Given the description of an element on the screen output the (x, y) to click on. 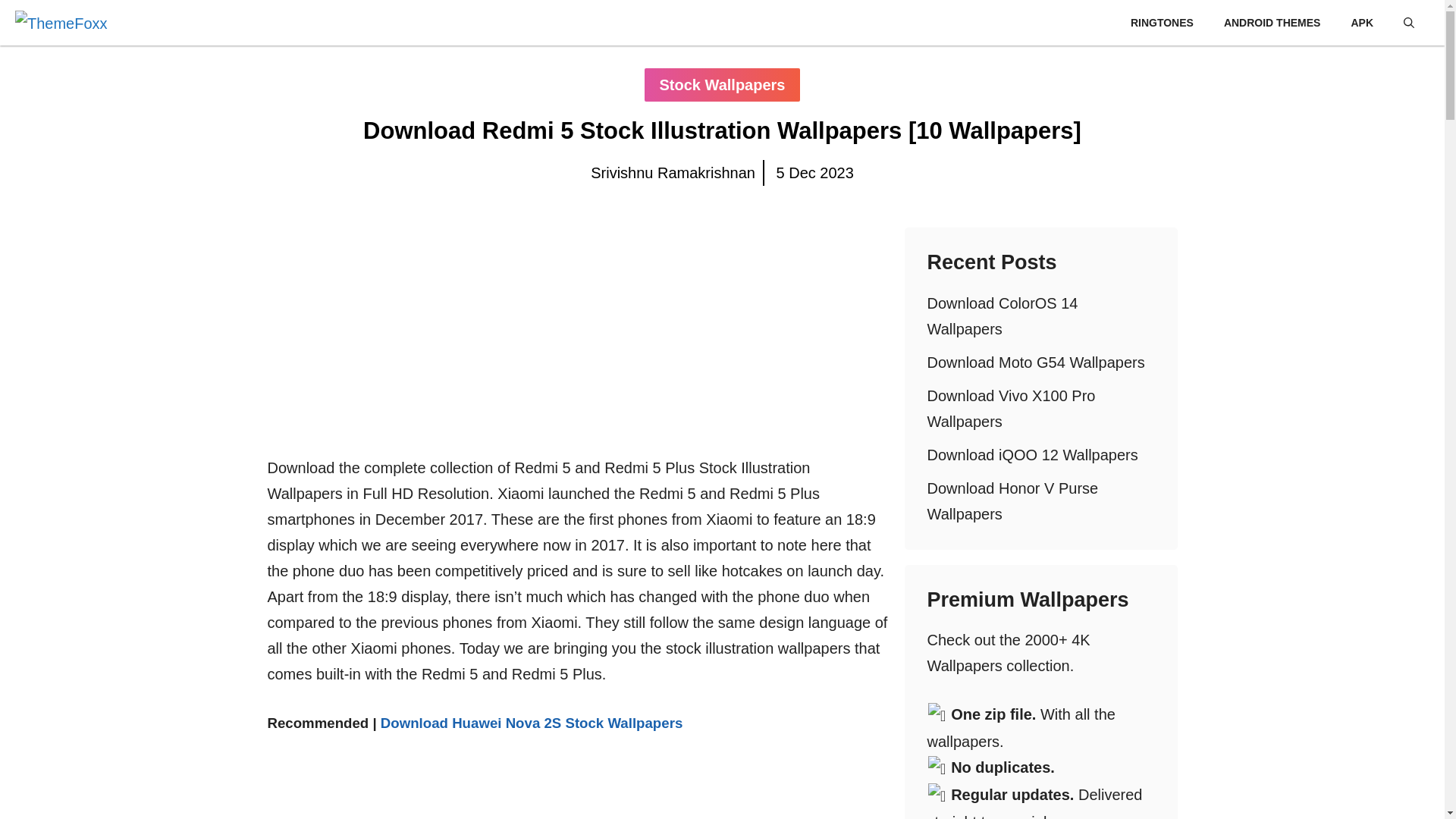
STOCK WALLPAPERS (1043, 22)
RINGTONES (1161, 22)
Download ColorOS 14 Wallpapers (1001, 315)
Download iQOO 12 Wallpapers (1031, 454)
Download Huawei Nova 2S Stock Wallpapers (531, 722)
Stock Wallpapers (722, 84)
Download Vivo X100 Pro Wallpapers (1010, 408)
Download Moto G54 Wallpapers (1035, 362)
ANDROID THEMES (1272, 22)
Download Honor V Purse Wallpapers (1011, 500)
Srivishnu Ramakrishnan (673, 172)
APK (1362, 22)
